Given the description of an element on the screen output the (x, y) to click on. 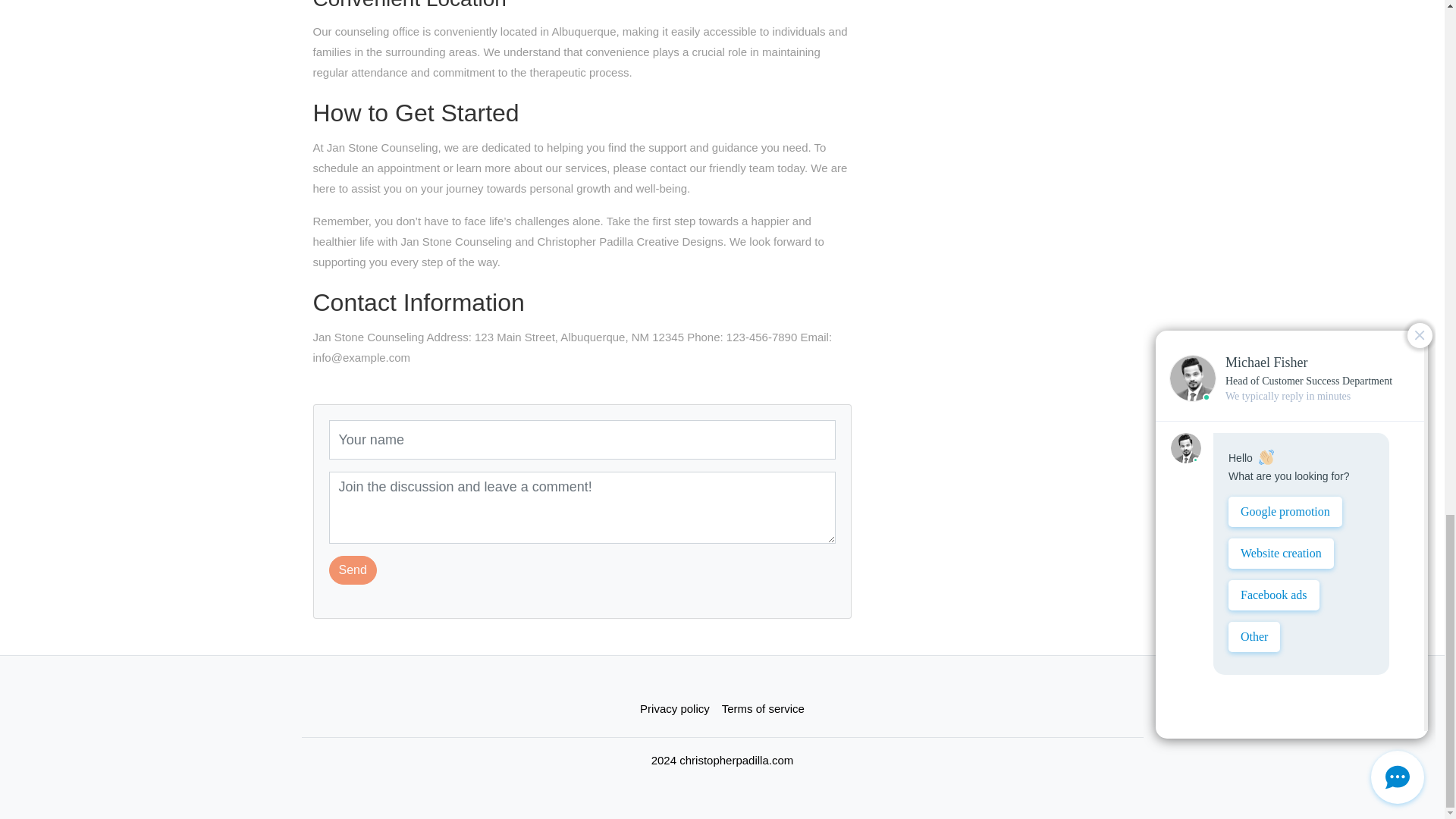
Send (353, 570)
Send (353, 570)
Privacy policy (674, 708)
Terms of service (763, 708)
